Given the description of an element on the screen output the (x, y) to click on. 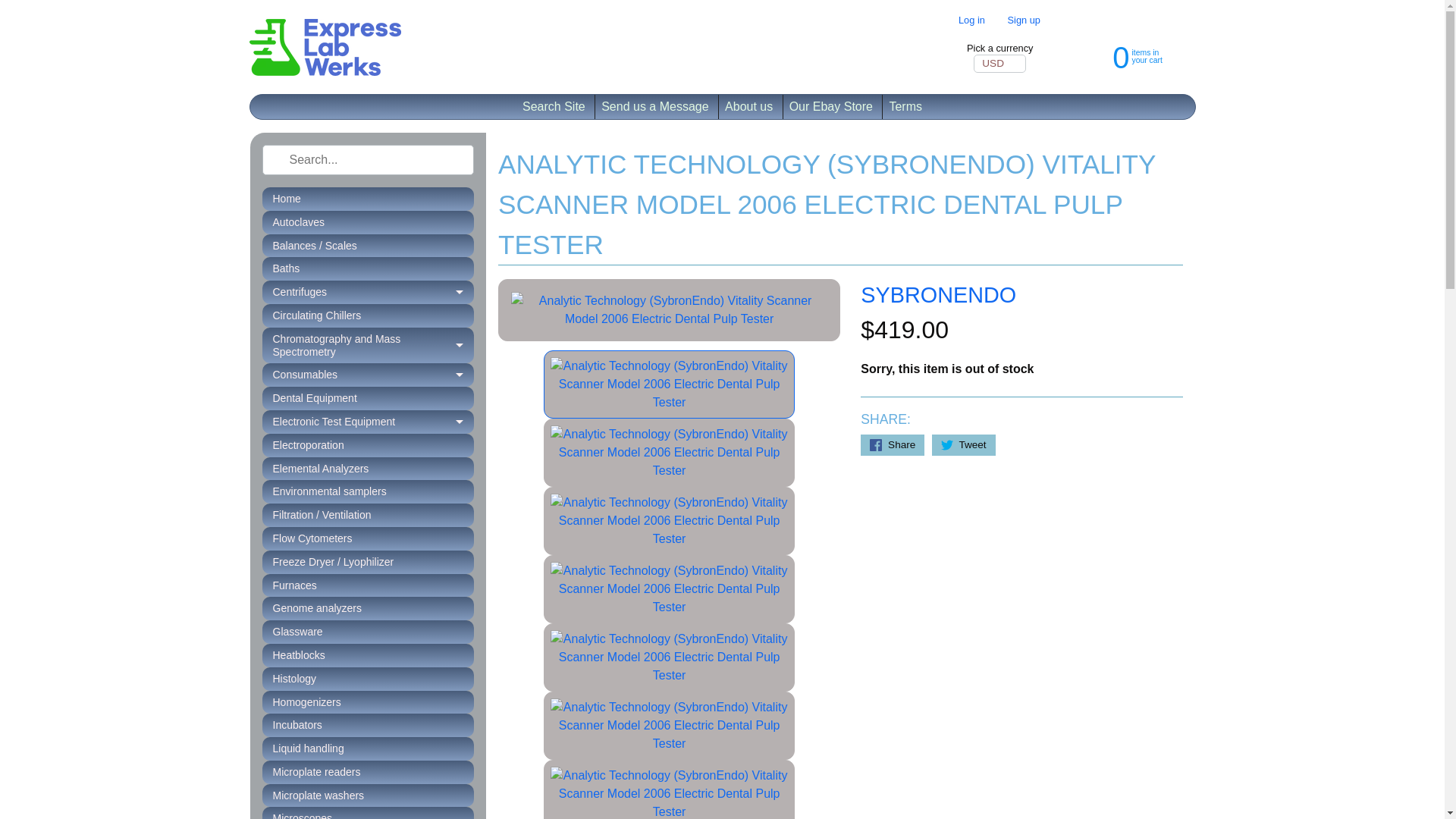
Electronic Test Equipment (368, 422)
Send us a Message (654, 106)
About us (748, 106)
Environmental samplers (368, 491)
Log in (970, 20)
Dental Equipment (368, 398)
Sign up (1024, 20)
Centrifuges (368, 291)
Electroporation (368, 445)
Circulating Chillers (368, 315)
